Given the description of an element on the screen output the (x, y) to click on. 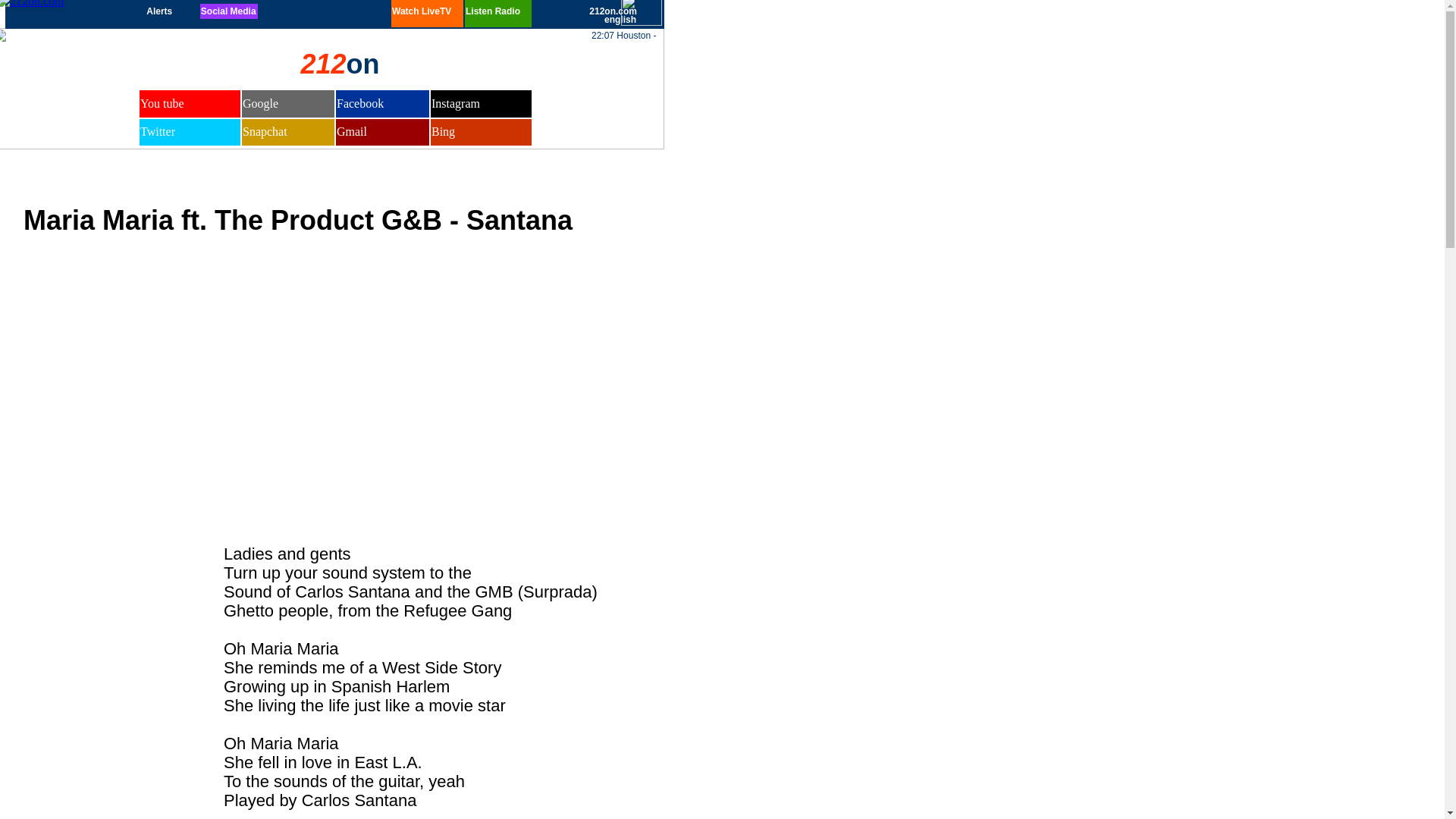
Listen Radio Element type: text (492, 11)
Gmail Element type: text (351, 131)
Snapchat Element type: text (264, 131)
Twitter Element type: text (157, 131)
Instagram Element type: text (455, 103)
Google Element type: text (260, 103)
Facebook Element type: text (359, 103)
You tube Element type: text (162, 103)
Bing Element type: text (443, 131)
